Given the description of an element on the screen output the (x, y) to click on. 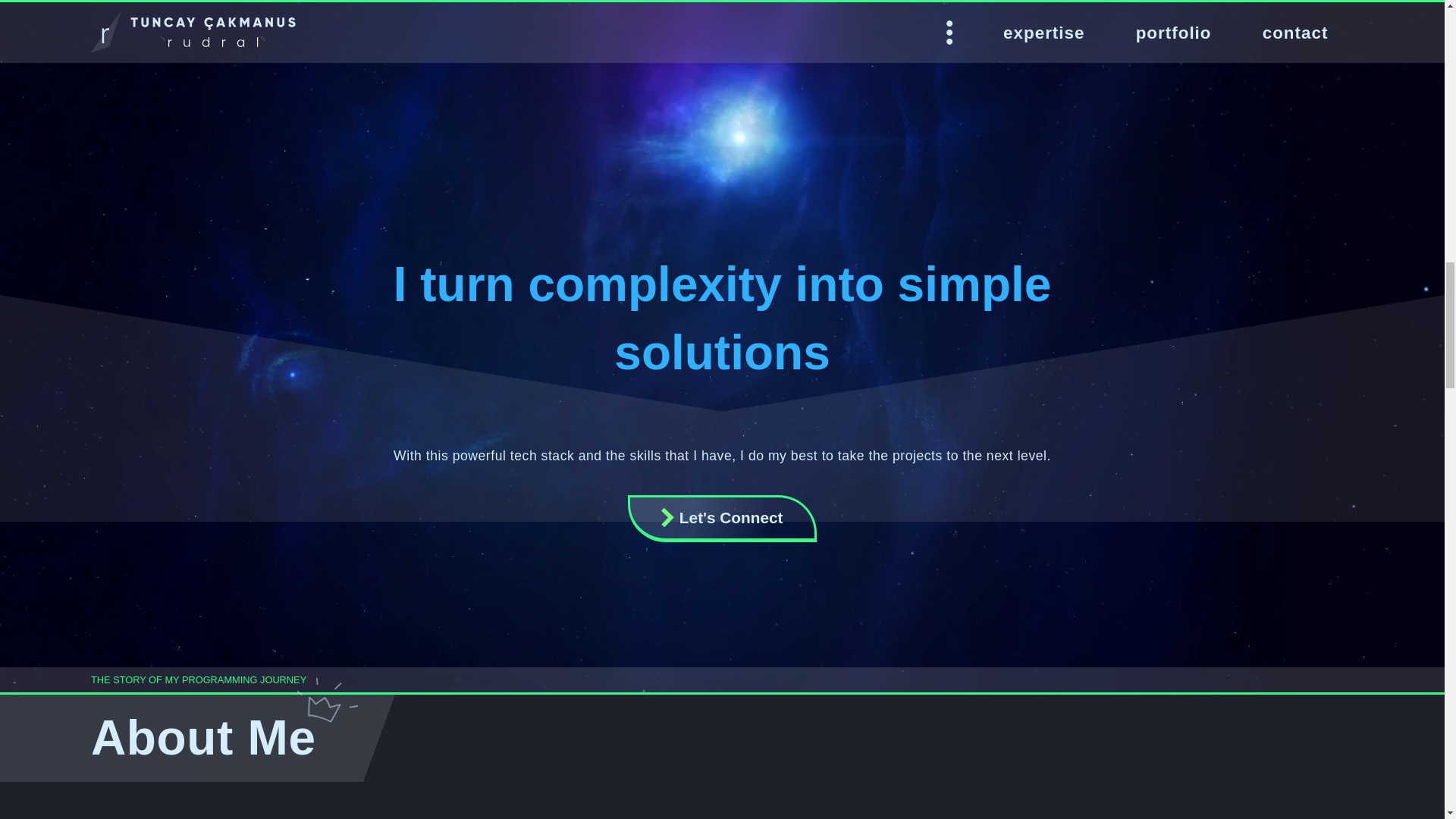
Contact (721, 518)
Let's Connect (721, 518)
